Given the description of an element on the screen output the (x, y) to click on. 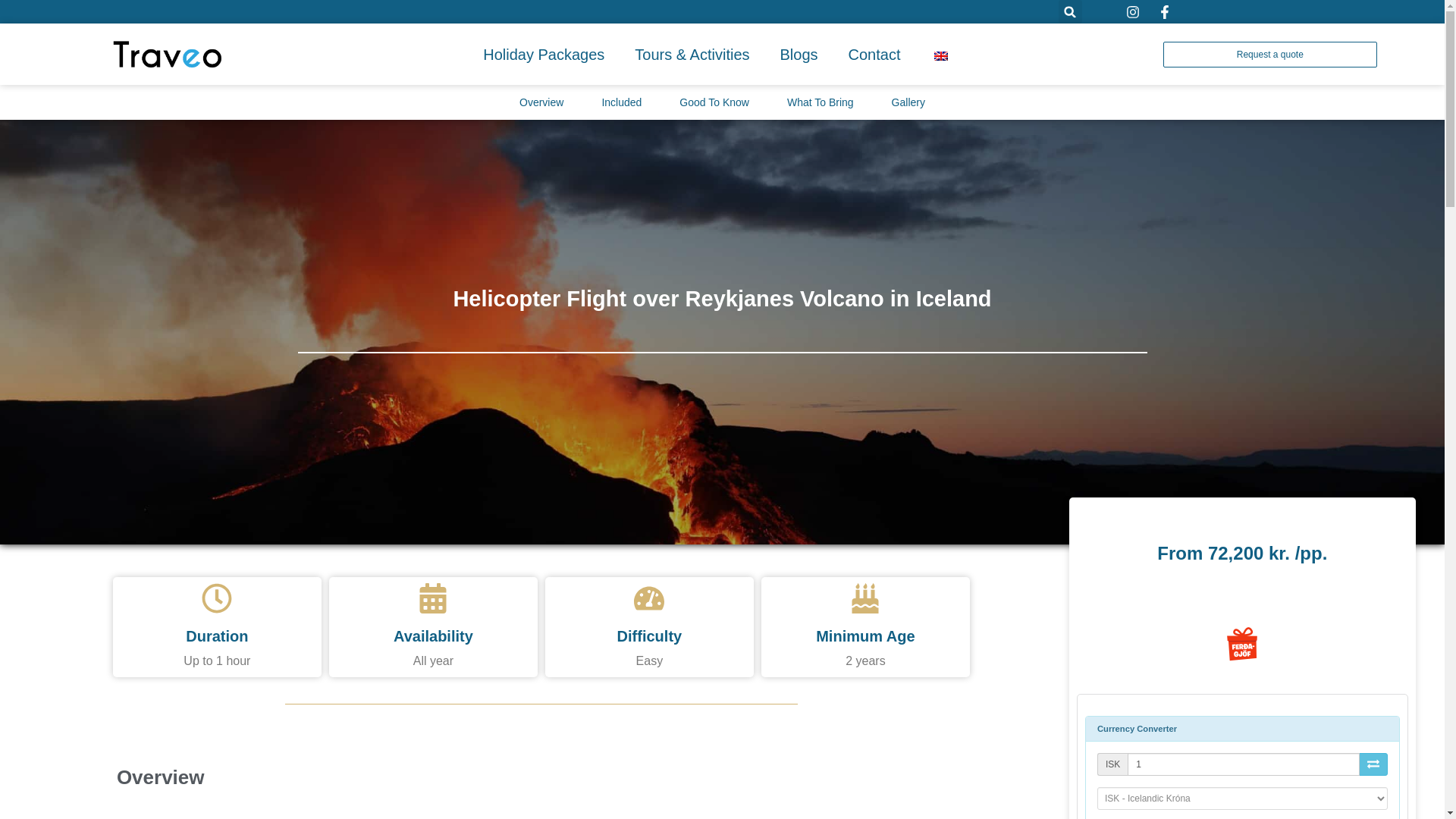
Holiday Packages (543, 54)
Good To Know (714, 102)
Overview (541, 102)
Contact (874, 54)
Included (621, 102)
Blogs (799, 54)
Currency Converter: CurrencyRate.Today (1241, 767)
What To Bring (820, 102)
Request a quote (1269, 54)
Gallery (907, 102)
